Given the description of an element on the screen output the (x, y) to click on. 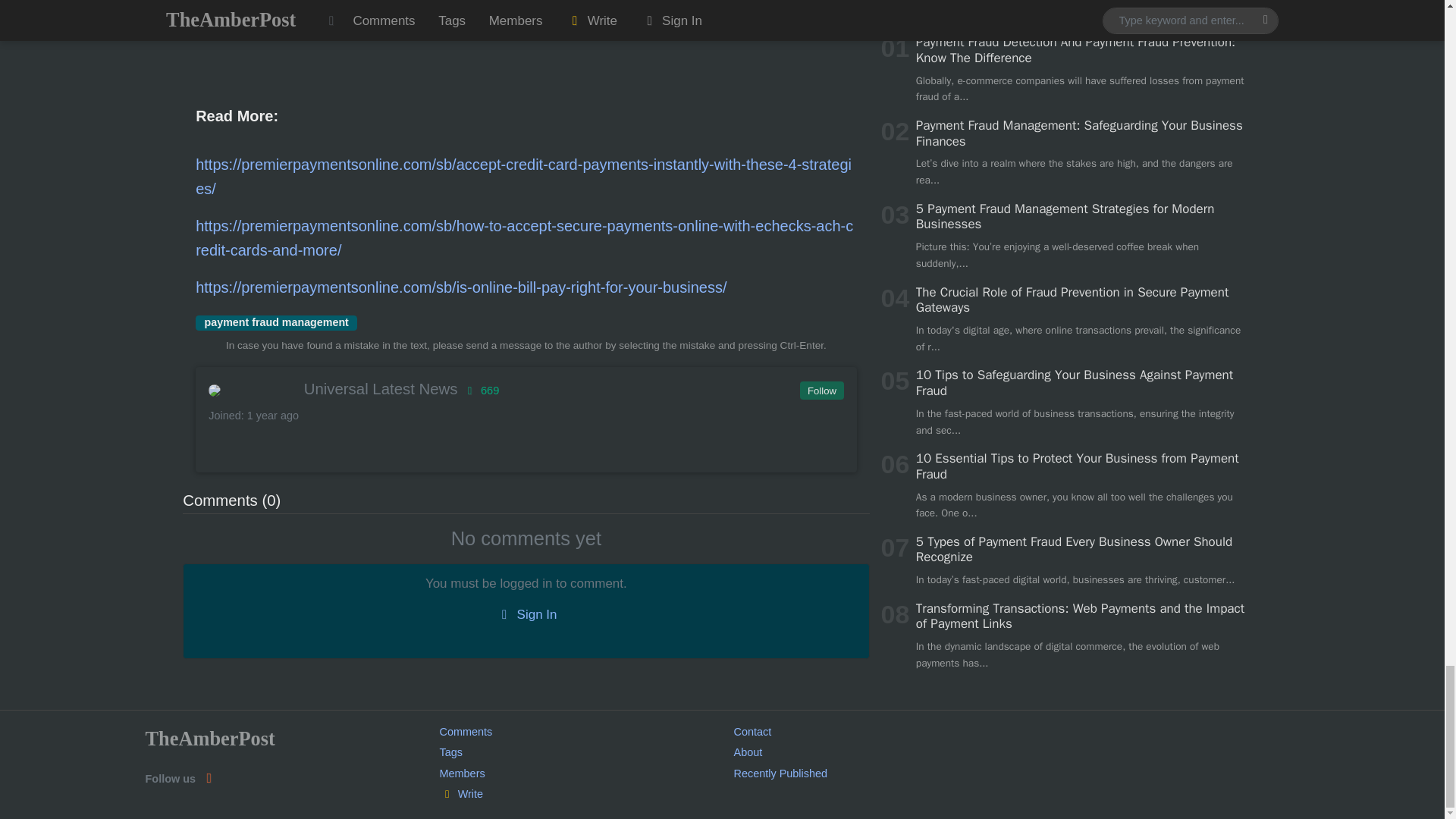
Universal Latest News 669 (525, 389)
Follow (821, 390)
payment fraud management (275, 322)
Rating (480, 390)
Sign In (525, 614)
payment fraud management (275, 322)
